Given the description of an element on the screen output the (x, y) to click on. 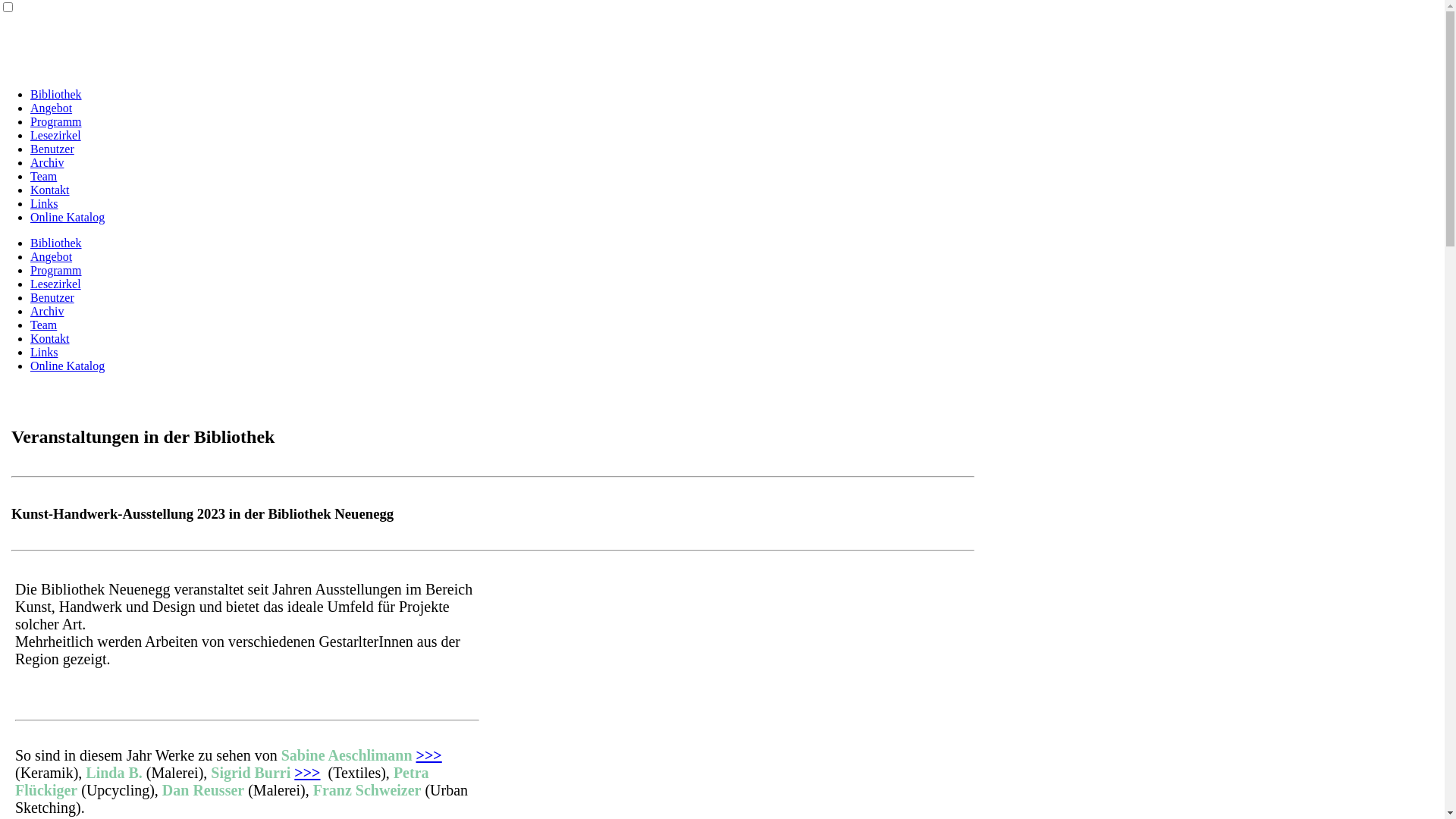
Team Element type: text (43, 175)
>>> Element type: text (429, 754)
Lesezirkel Element type: text (55, 283)
Archiv Element type: text (46, 162)
Programm Element type: text (55, 269)
Links Element type: text (43, 351)
Archiv Element type: text (46, 310)
Online Katalog Element type: text (67, 365)
>>> Element type: text (307, 772)
Online Katalog Element type: text (67, 216)
Kontakt Element type: text (49, 338)
Benutzer Element type: text (52, 297)
Links Element type: text (43, 203)
Team Element type: text (43, 324)
Programm Element type: text (55, 121)
Angebot Element type: text (51, 256)
Kontakt Element type: text (49, 189)
Bibliothek Element type: text (55, 242)
Benutzer Element type: text (52, 148)
Lesezirkel Element type: text (55, 134)
Angebot Element type: text (51, 107)
Bibliothek Element type: text (55, 93)
